Given the description of an element on the screen output the (x, y) to click on. 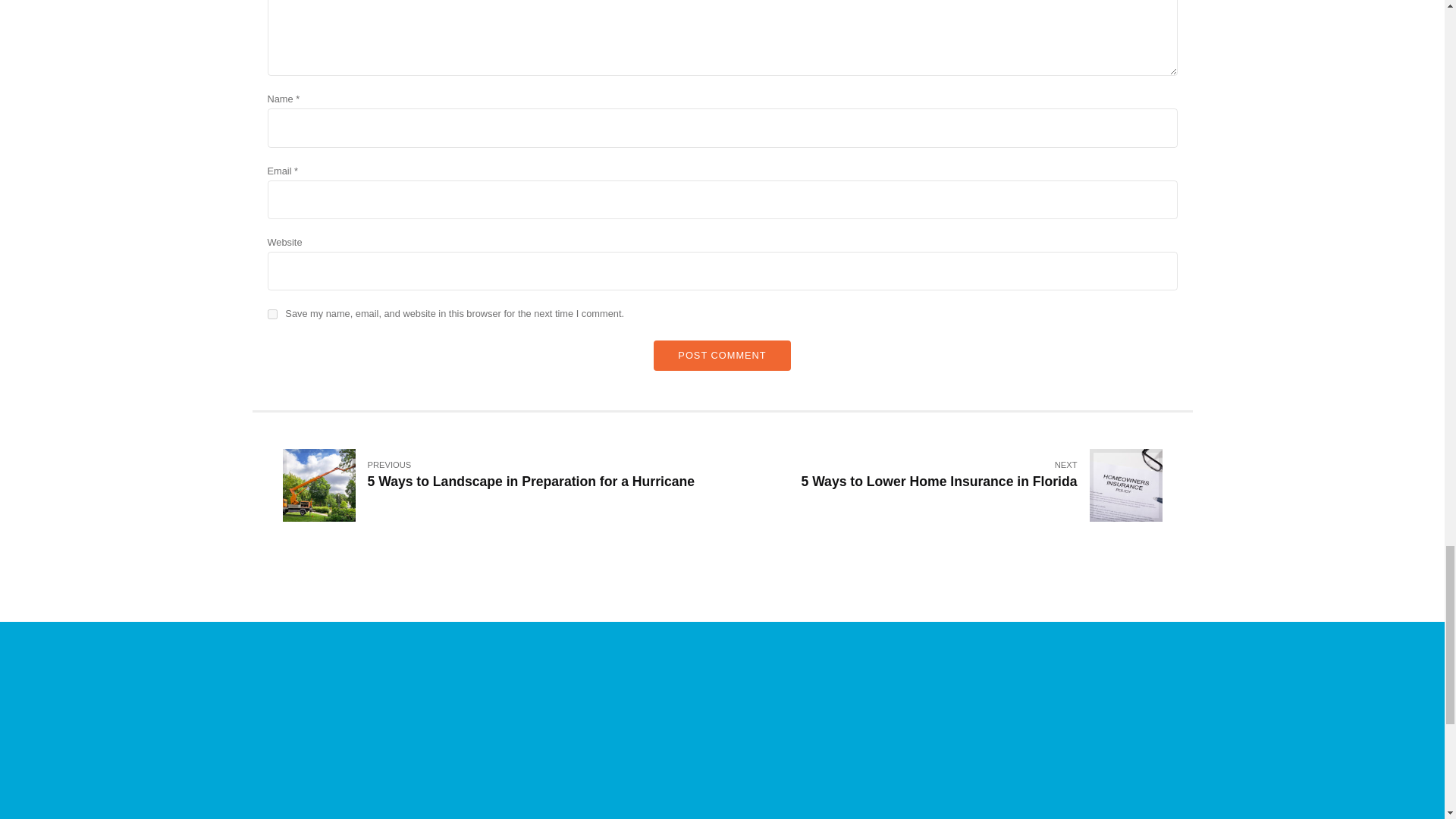
yes (941, 486)
POST COMMENT (271, 314)
